Given the description of an element on the screen output the (x, y) to click on. 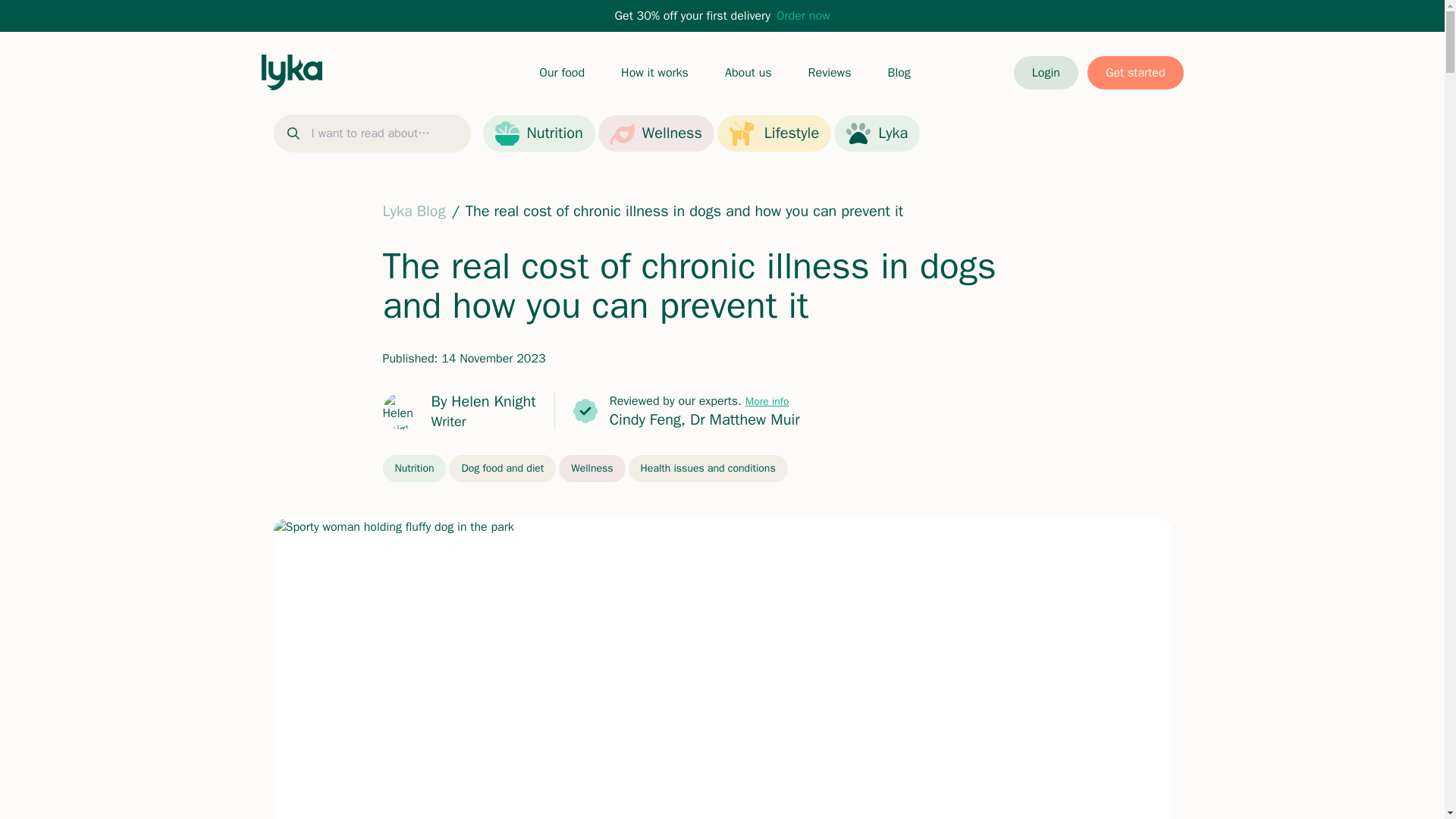
Nutrition (413, 468)
Lyka (877, 133)
Get started (1135, 72)
Lyka Blog (413, 210)
More info (767, 400)
Wellness (591, 468)
Login (1045, 72)
Nutrition (537, 133)
Blog (898, 72)
About us (748, 72)
